Given the description of an element on the screen output the (x, y) to click on. 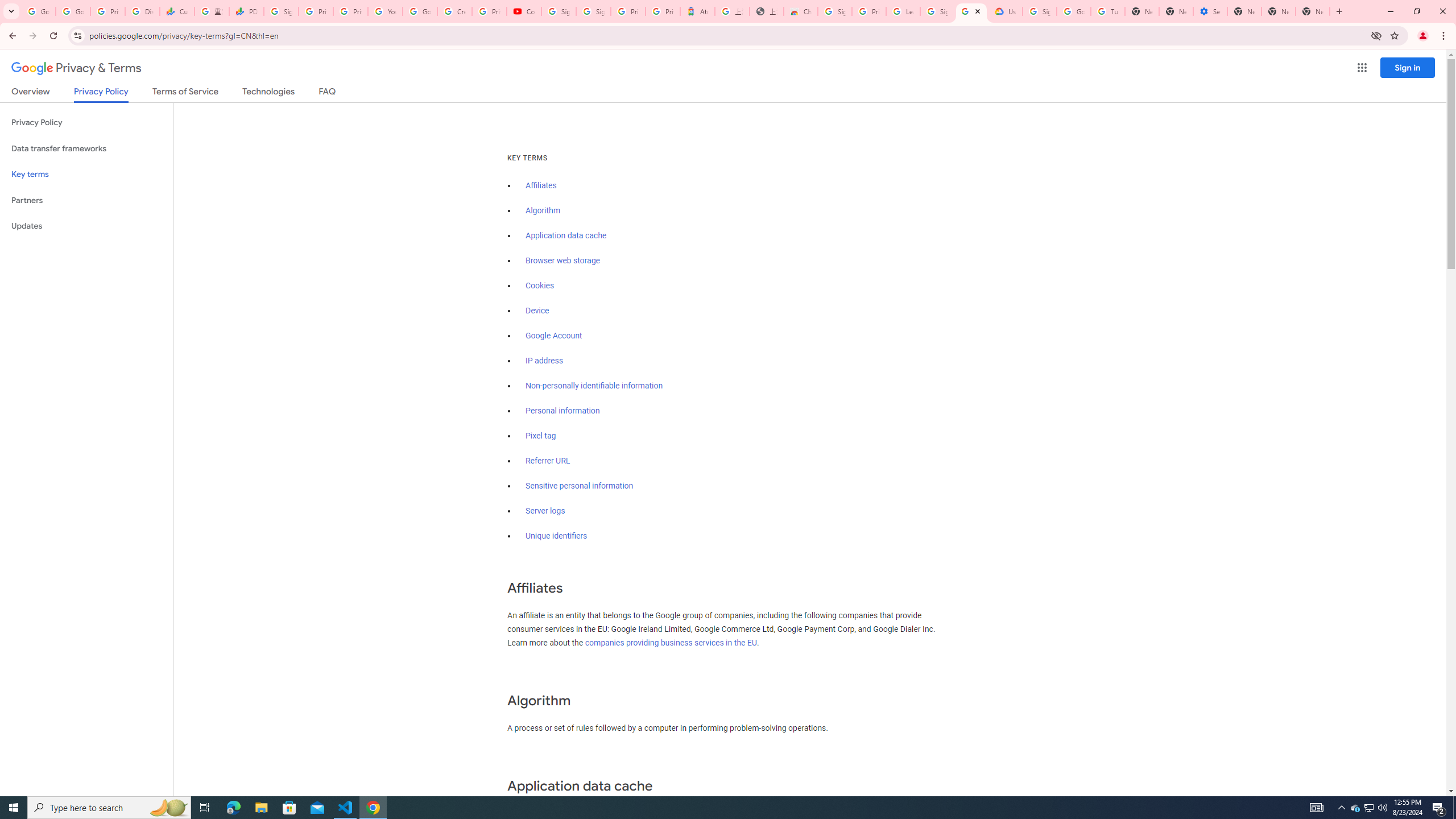
Application data cache (566, 235)
Google Account (553, 335)
Create your Google Account (454, 11)
Sign in - Google Accounts (592, 11)
Referrer URL (547, 461)
Sign in - Google Accounts (937, 11)
Content Creator Programs & Opportunities - YouTube Creators (524, 11)
